Given the description of an element on the screen output the (x, y) to click on. 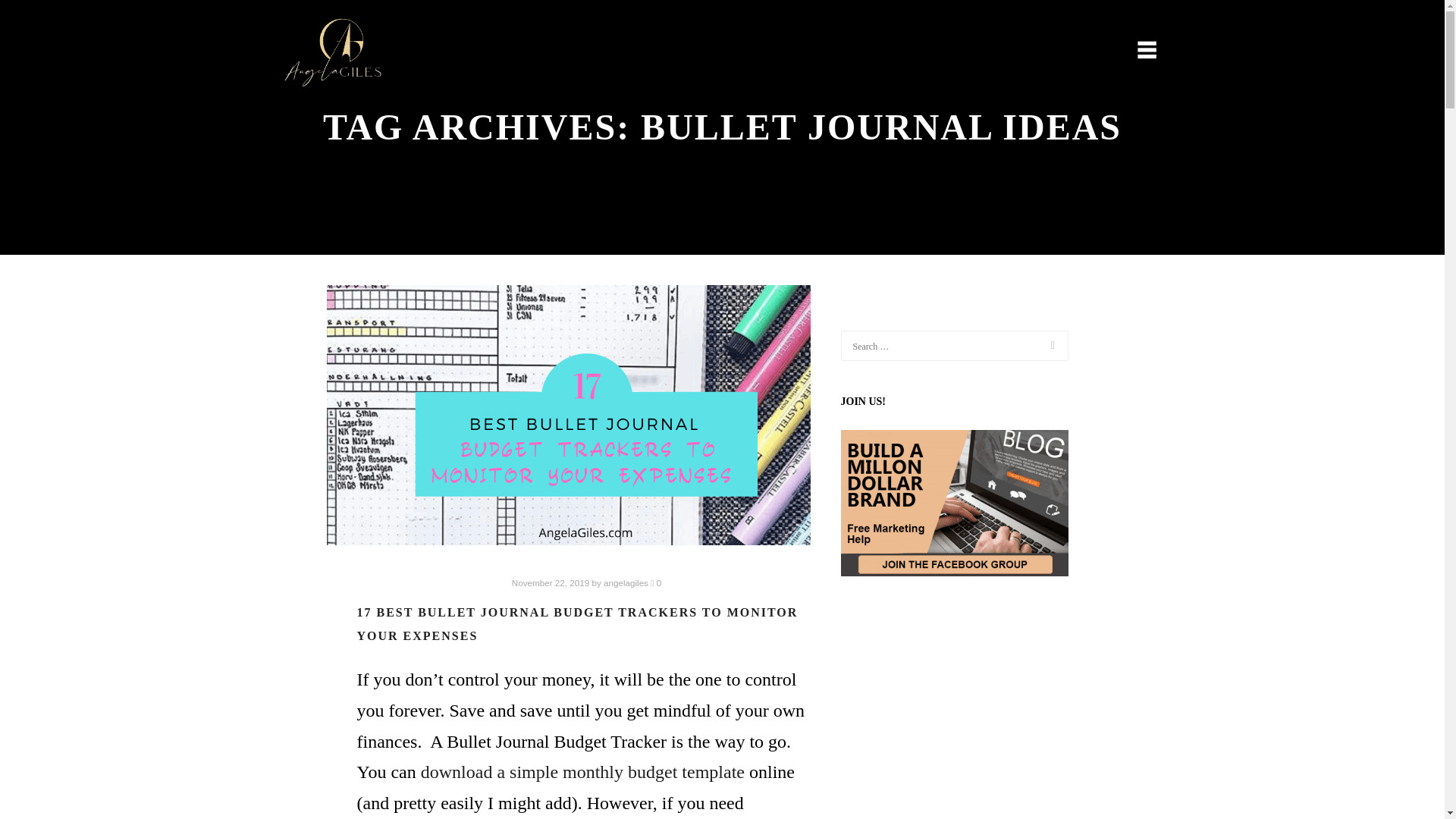
More info (1137, 51)
Angela Giles (333, 51)
More info (1137, 51)
0 (655, 583)
View all posts by angelagiles (625, 583)
download a simple monthly budget template (582, 772)
angelagiles (625, 583)
JOIN US! (953, 502)
